Given the description of an element on the screen output the (x, y) to click on. 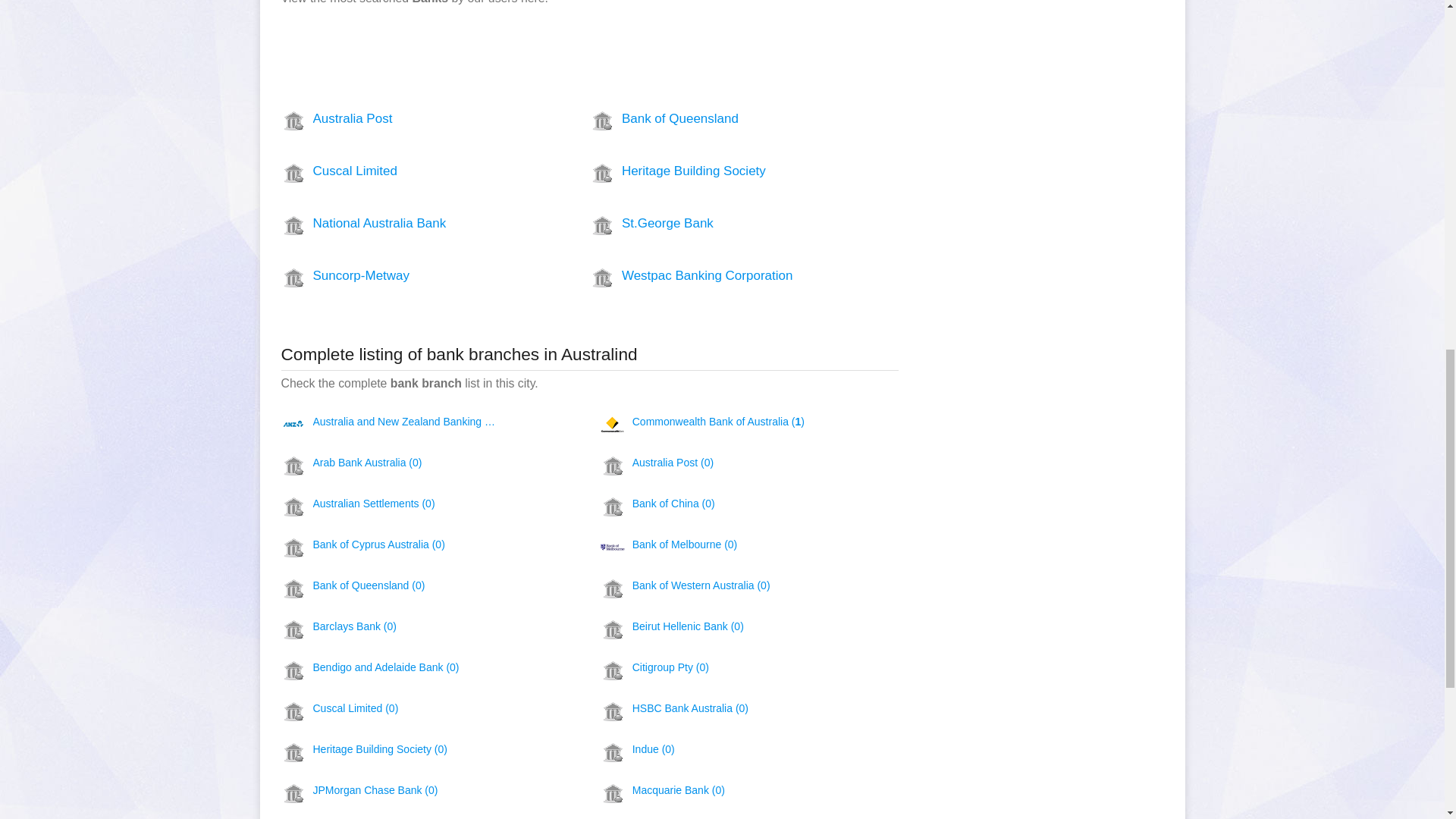
Suncorp-Metway (407, 275)
Bank of Queensland (715, 118)
Australia Post (407, 118)
Westpac Banking Corporation (715, 275)
National Australia Bank (407, 223)
St.George Bank (715, 223)
Cuscal Limited (407, 171)
Heritage Building Society (715, 171)
